Given the description of an element on the screen output the (x, y) to click on. 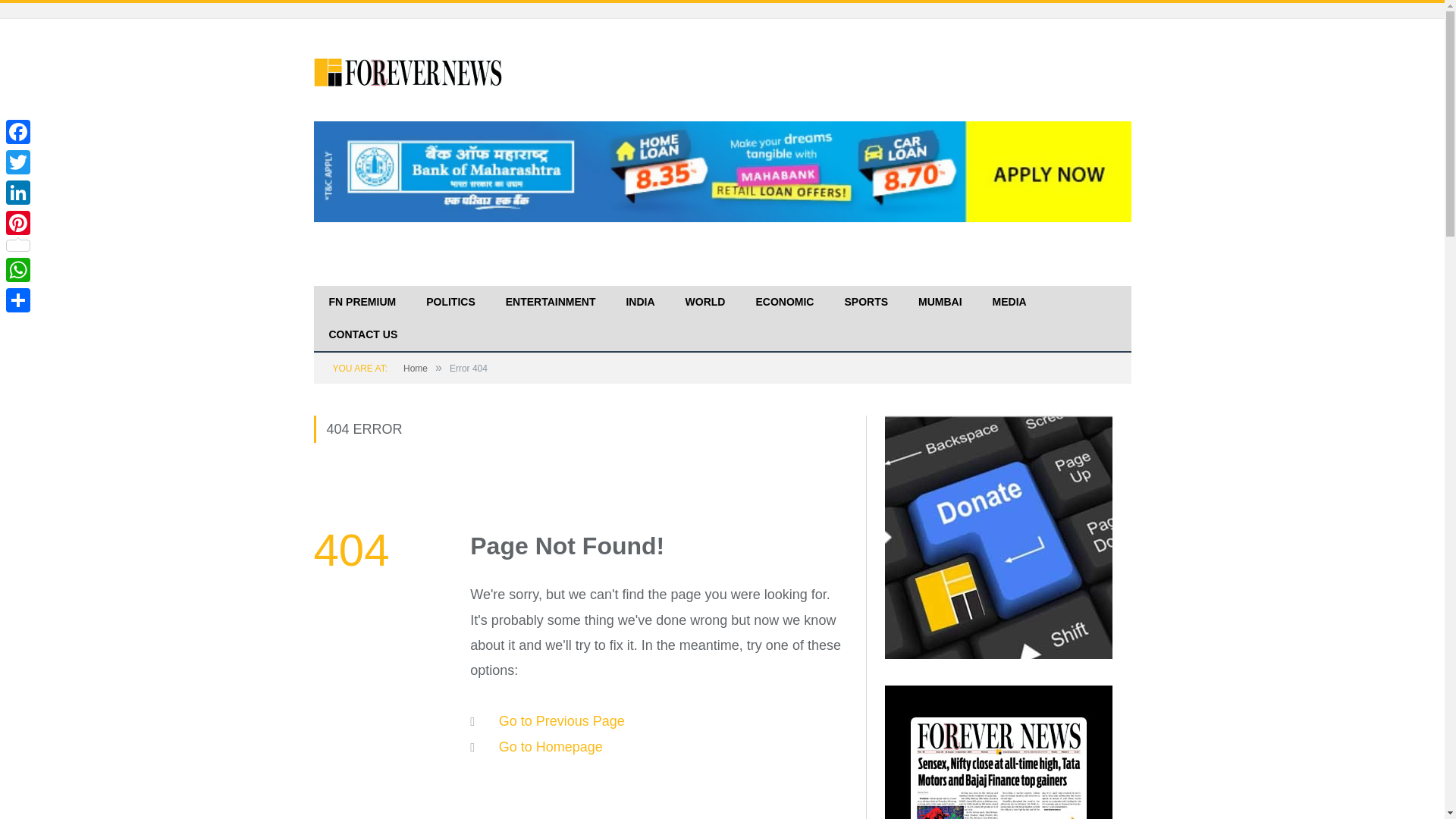
Forever NEWS (408, 69)
POLITICS (450, 302)
INDIA (639, 302)
Twitter (17, 162)
WhatsApp (17, 269)
LinkedIn (17, 192)
SPORTS (865, 302)
CONTACT US (363, 335)
FN PREMIUM (363, 302)
Go to Previous Page (561, 720)
